Given the description of an element on the screen output the (x, y) to click on. 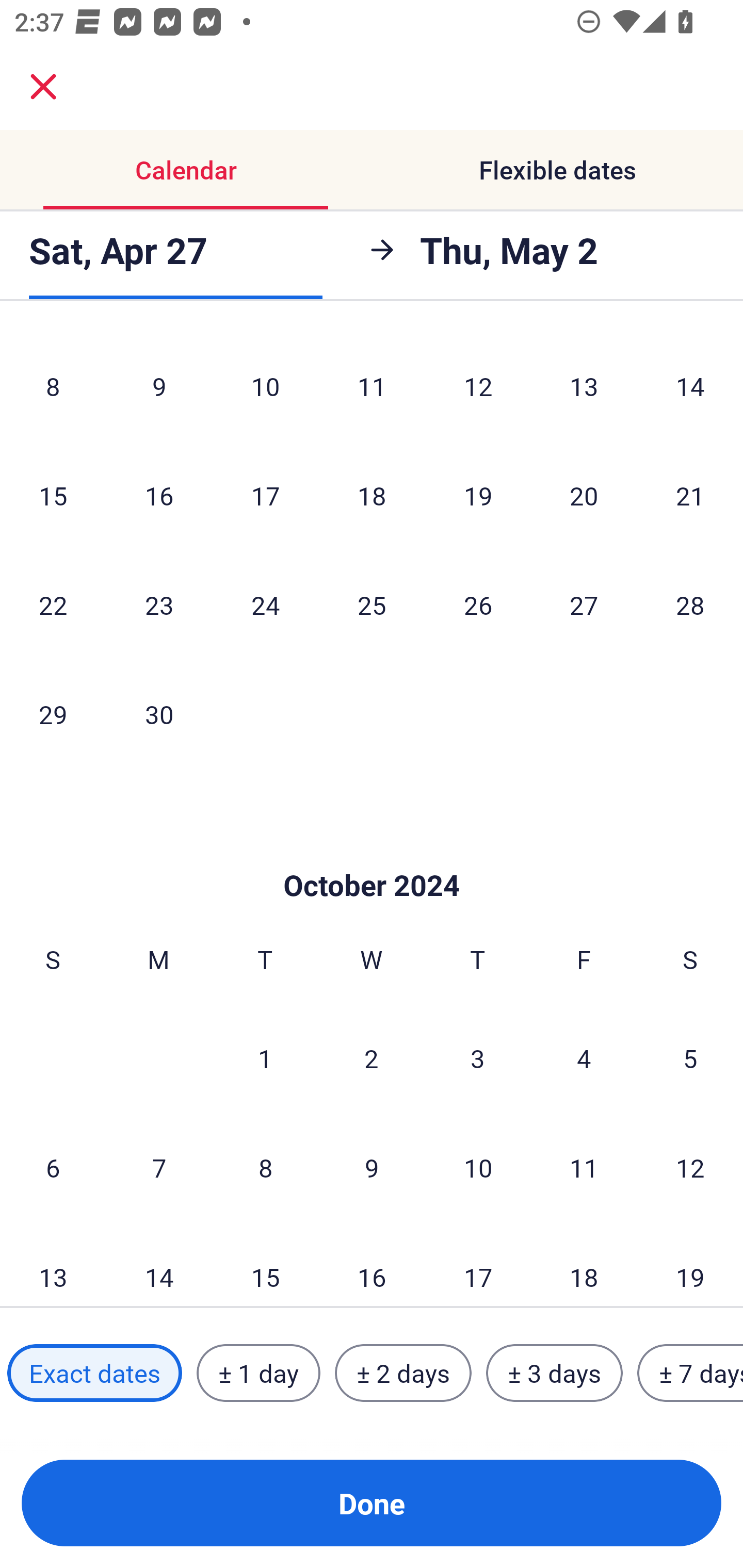
close. (43, 86)
Flexible dates (557, 170)
8 Sunday, September 8, 2024 (53, 385)
9 Monday, September 9, 2024 (159, 385)
10 Tuesday, September 10, 2024 (265, 385)
11 Wednesday, September 11, 2024 (371, 385)
12 Thursday, September 12, 2024 (477, 385)
13 Friday, September 13, 2024 (584, 385)
14 Saturday, September 14, 2024 (690, 385)
15 Sunday, September 15, 2024 (53, 495)
16 Monday, September 16, 2024 (159, 495)
17 Tuesday, September 17, 2024 (265, 495)
18 Wednesday, September 18, 2024 (371, 495)
19 Thursday, September 19, 2024 (477, 495)
20 Friday, September 20, 2024 (584, 495)
21 Saturday, September 21, 2024 (690, 495)
22 Sunday, September 22, 2024 (53, 603)
23 Monday, September 23, 2024 (159, 603)
24 Tuesday, September 24, 2024 (265, 603)
25 Wednesday, September 25, 2024 (371, 603)
26 Thursday, September 26, 2024 (477, 603)
27 Friday, September 27, 2024 (584, 603)
28 Saturday, September 28, 2024 (690, 603)
29 Sunday, September 29, 2024 (53, 713)
30 Monday, September 30, 2024 (159, 713)
Skip to Done (371, 854)
1 Tuesday, October 1, 2024 (264, 1058)
2 Wednesday, October 2, 2024 (371, 1058)
3 Thursday, October 3, 2024 (477, 1058)
4 Friday, October 4, 2024 (584, 1058)
5 Saturday, October 5, 2024 (690, 1058)
6 Sunday, October 6, 2024 (53, 1166)
7 Monday, October 7, 2024 (159, 1166)
8 Tuesday, October 8, 2024 (265, 1166)
9 Wednesday, October 9, 2024 (371, 1166)
10 Thursday, October 10, 2024 (477, 1166)
11 Friday, October 11, 2024 (584, 1166)
12 Saturday, October 12, 2024 (690, 1166)
13 Sunday, October 13, 2024 (53, 1265)
14 Monday, October 14, 2024 (159, 1265)
15 Tuesday, October 15, 2024 (265, 1265)
16 Wednesday, October 16, 2024 (371, 1265)
17 Thursday, October 17, 2024 (477, 1265)
18 Friday, October 18, 2024 (584, 1265)
19 Saturday, October 19, 2024 (690, 1265)
Exact dates (94, 1372)
± 1 day (258, 1372)
± 2 days (403, 1372)
± 3 days (553, 1372)
± 7 days (690, 1372)
